Given the description of an element on the screen output the (x, y) to click on. 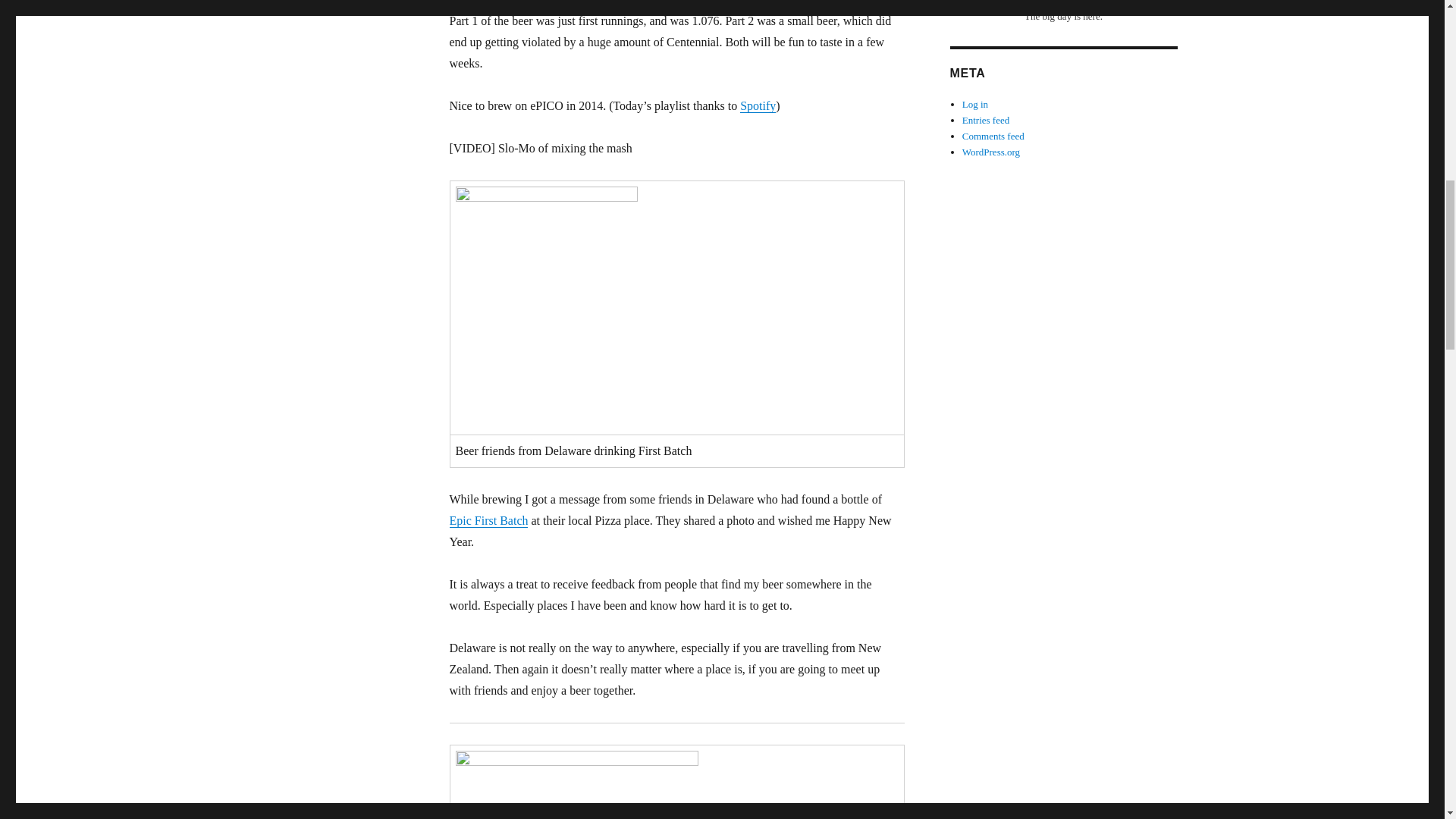
Comments feed (993, 135)
WordPress.org (991, 152)
Epic First Batch (487, 520)
Spotify (757, 105)
Log in (975, 103)
Entries feed (985, 120)
